Given the description of an element on the screen output the (x, y) to click on. 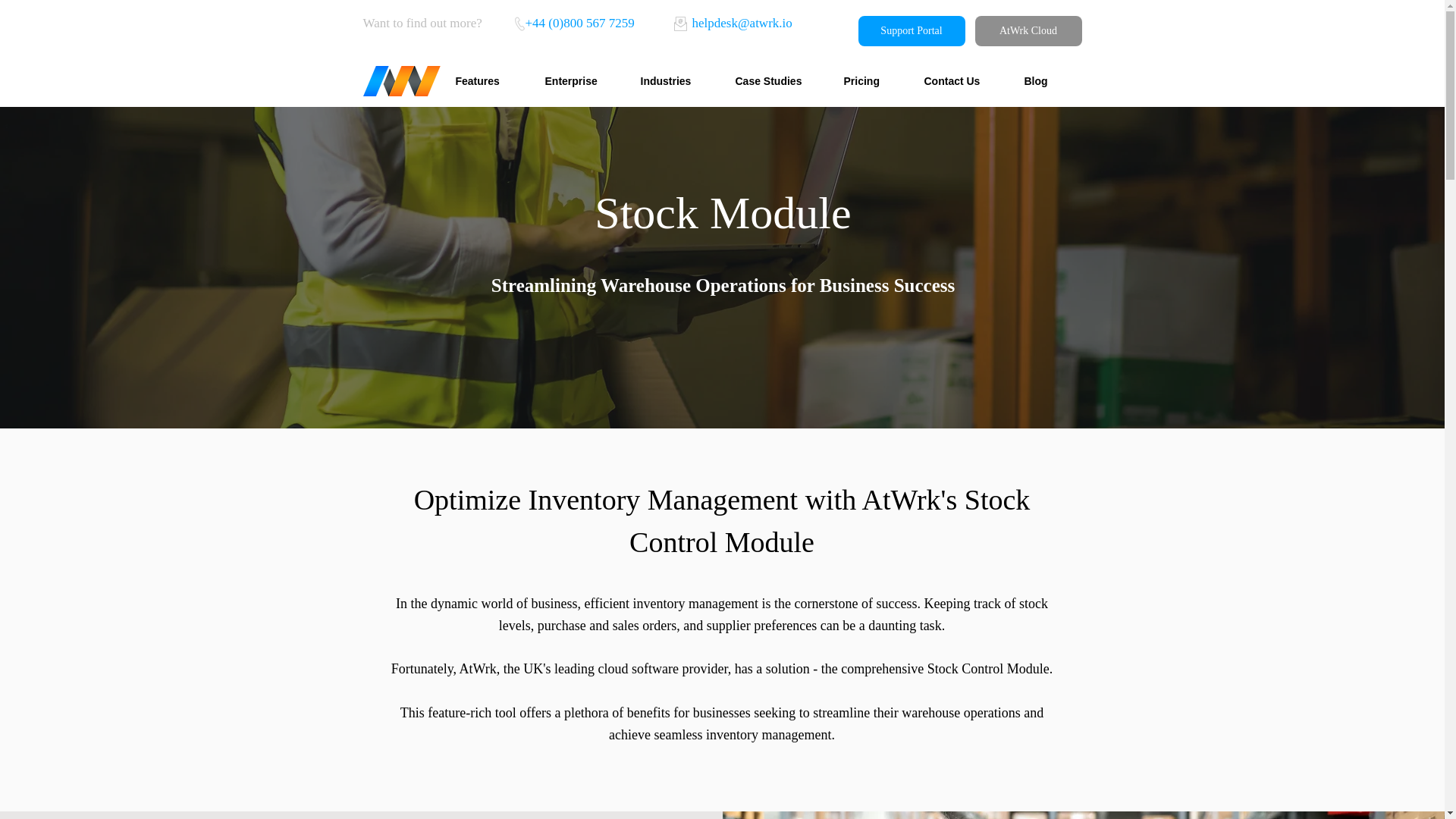
Contact Us (962, 80)
Industries (675, 80)
Blog (1047, 80)
Pricing (872, 80)
AtWrk Cloud (1028, 30)
Support Portal (912, 30)
